Given the description of an element on the screen output the (x, y) to click on. 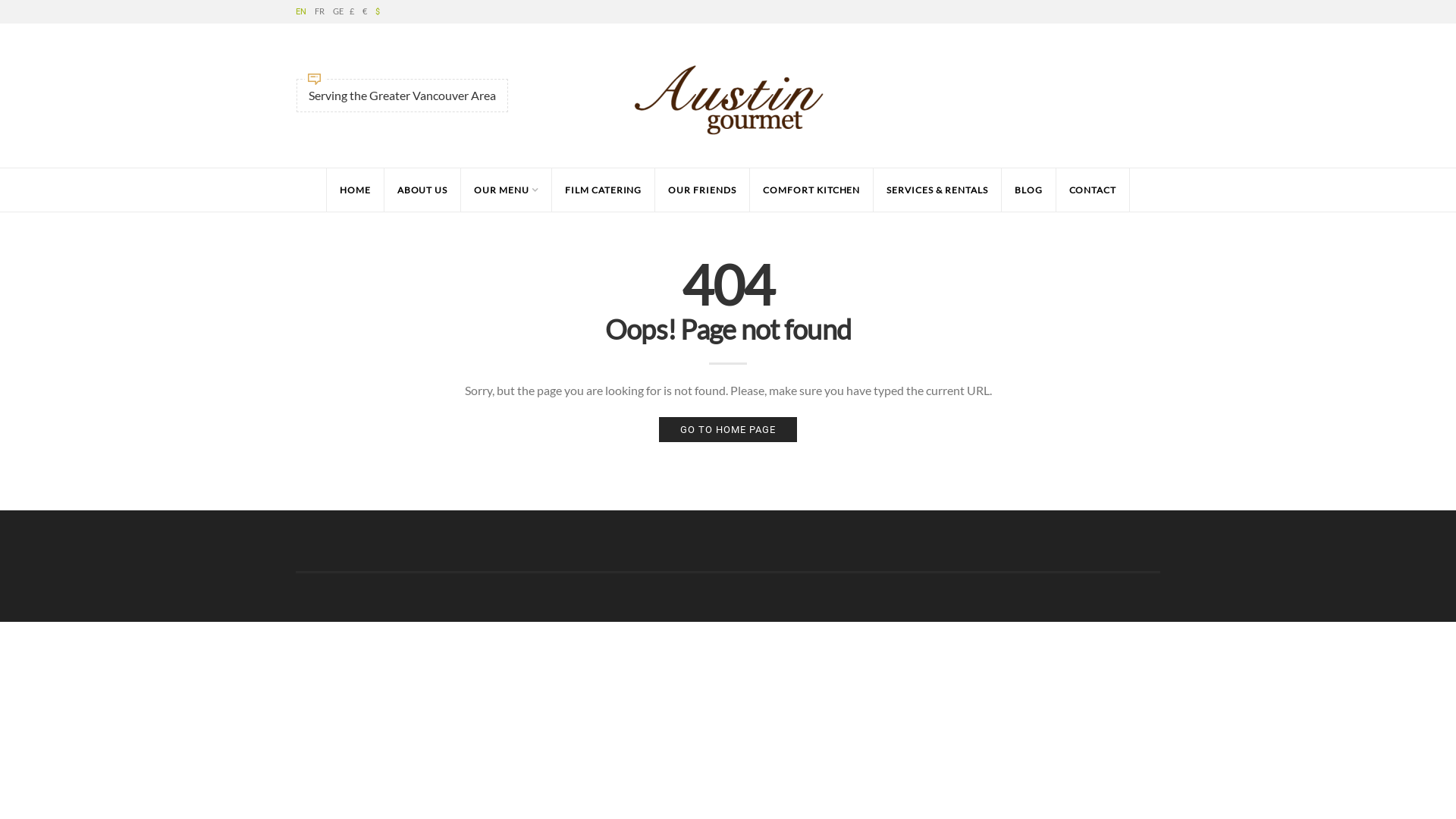
HOME Element type: text (354, 189)
CONTACT Element type: text (1092, 189)
COMFORT KITCHEN Element type: text (810, 189)
OUR FRIENDS Element type: text (701, 189)
BLOG Element type: text (1028, 189)
OUR MENU Element type: text (505, 189)
ABOUT US Element type: text (422, 189)
FILM CATERING Element type: text (602, 189)
FR Element type: text (319, 10)
GO TO HOME PAGE Element type: text (727, 429)
GE Element type: text (337, 10)
SERVICES & RENTALS Element type: text (936, 189)
